Given the description of an element on the screen output the (x, y) to click on. 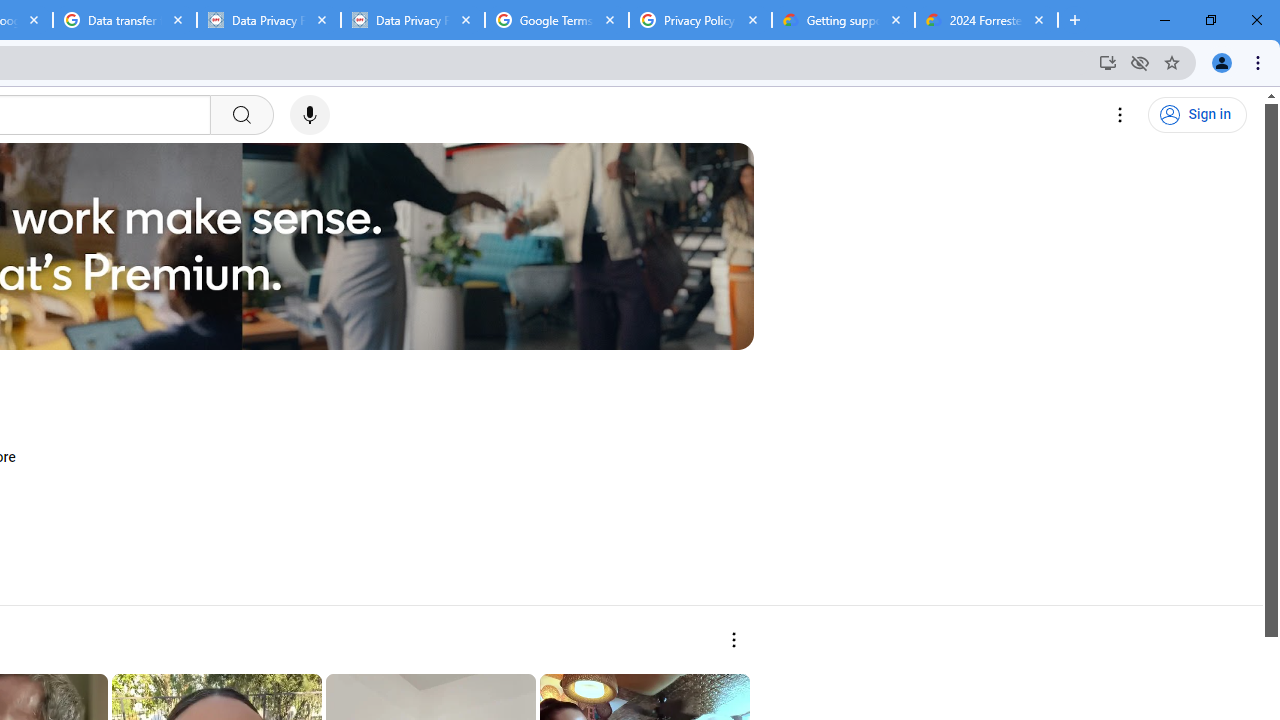
Data Privacy Framework (268, 20)
Install YouTube (1107, 62)
Chrome (1260, 62)
Search with your voice (309, 115)
Bookmark this tab (1171, 62)
Minimize (1165, 20)
You (1221, 62)
Close (1039, 19)
Data Privacy Framework (412, 20)
Sign in (1197, 115)
Search (240, 115)
Third-party cookies blocked (1139, 62)
